Given the description of an element on the screen output the (x, y) to click on. 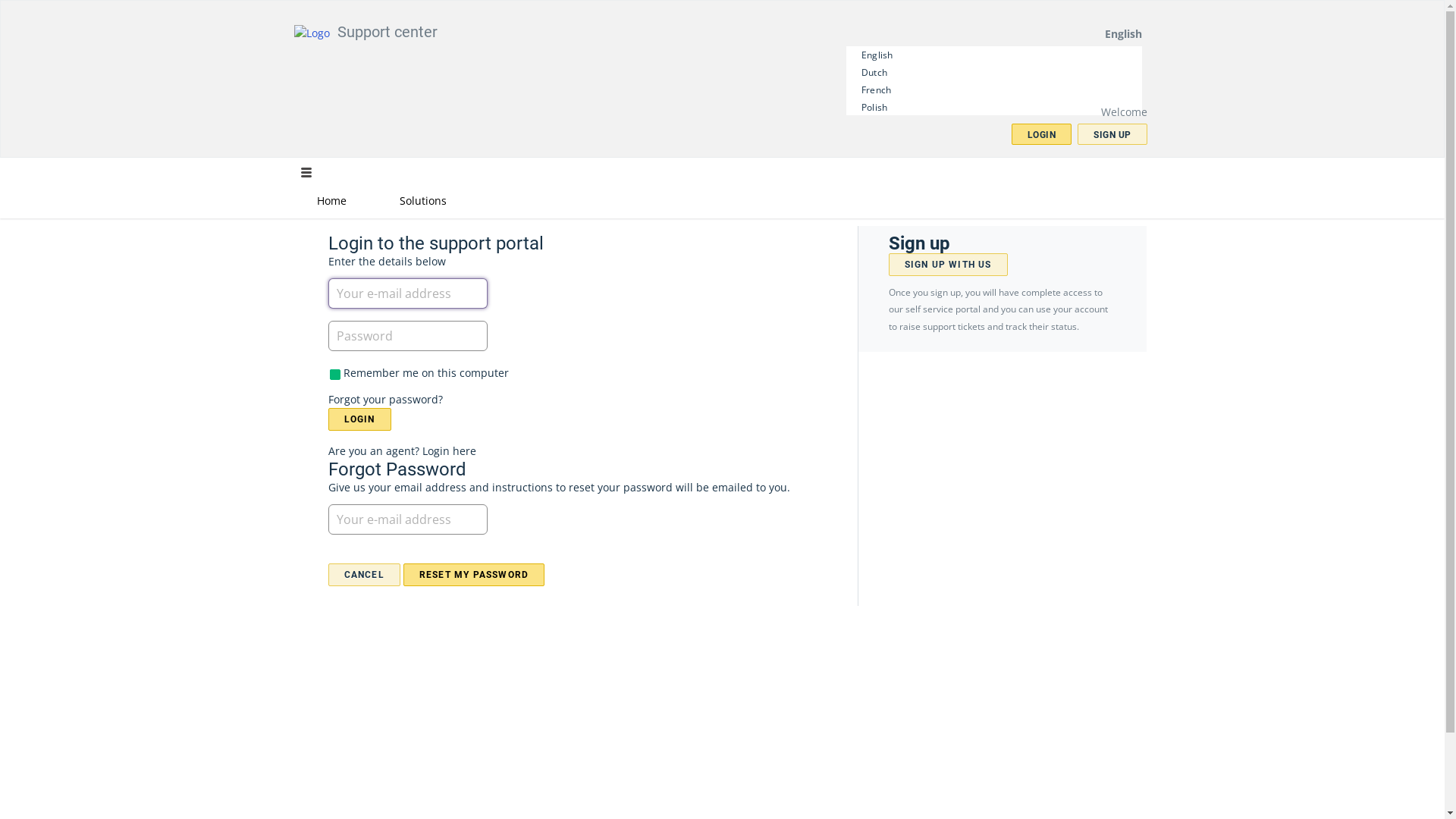
Login here Element type: text (448, 450)
Dutch Element type: text (874, 72)
Polish Element type: text (874, 106)
RESET MY PASSWORD Element type: text (473, 574)
LOGIN Element type: text (1041, 133)
SIGN UP WITH US Element type: text (947, 264)
SIGN UP Element type: text (1112, 133)
French Element type: text (876, 89)
Home Element type: text (331, 200)
CANCEL Element type: text (363, 574)
LOGIN Element type: text (358, 418)
Forgot your password? Element type: text (384, 399)
Solutions Element type: text (422, 200)
English Element type: text (878, 54)
